Given the description of an element on the screen output the (x, y) to click on. 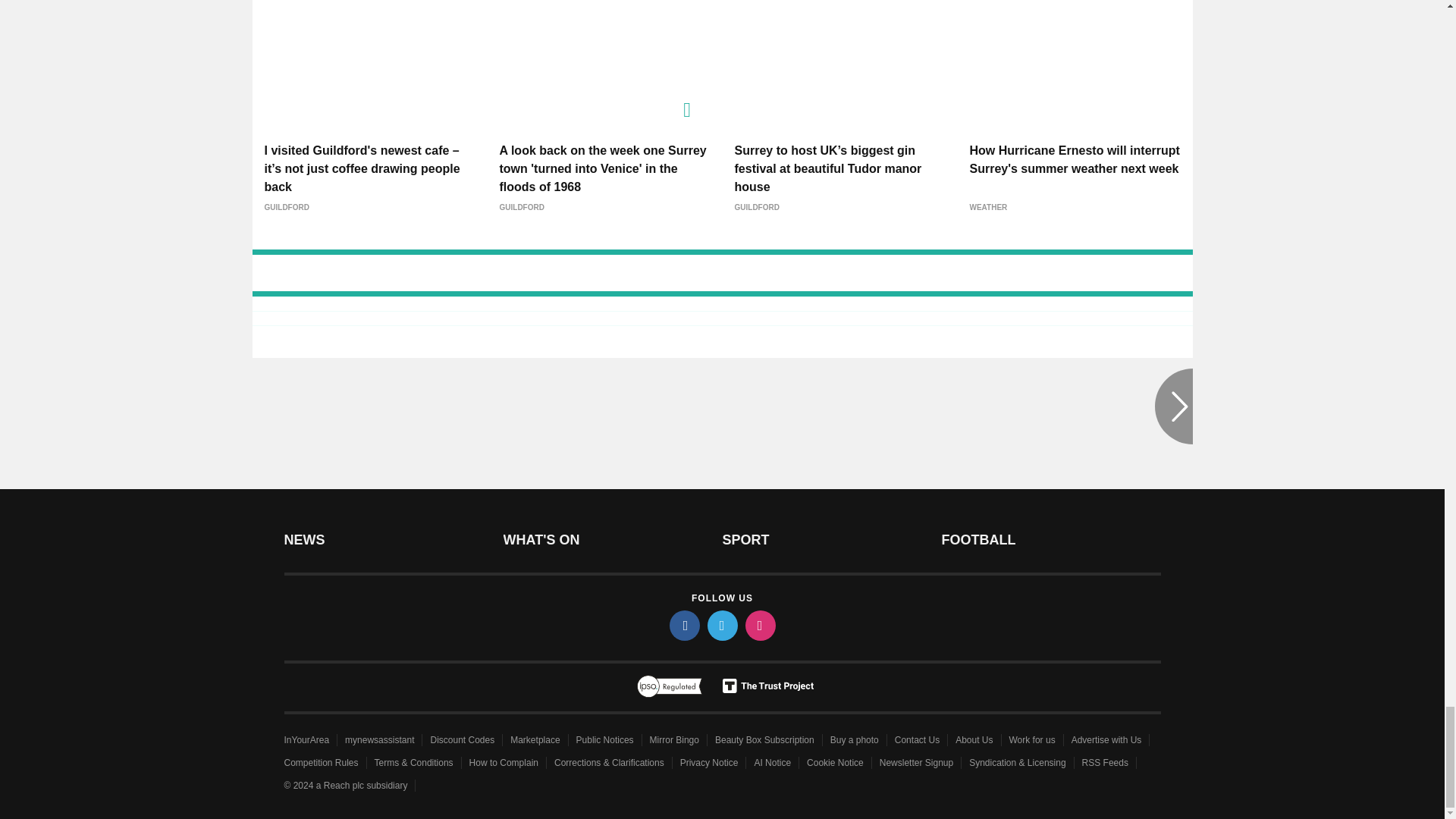
facebook (683, 625)
twitter (721, 625)
instagram (759, 625)
